Given the description of an element on the screen output the (x, y) to click on. 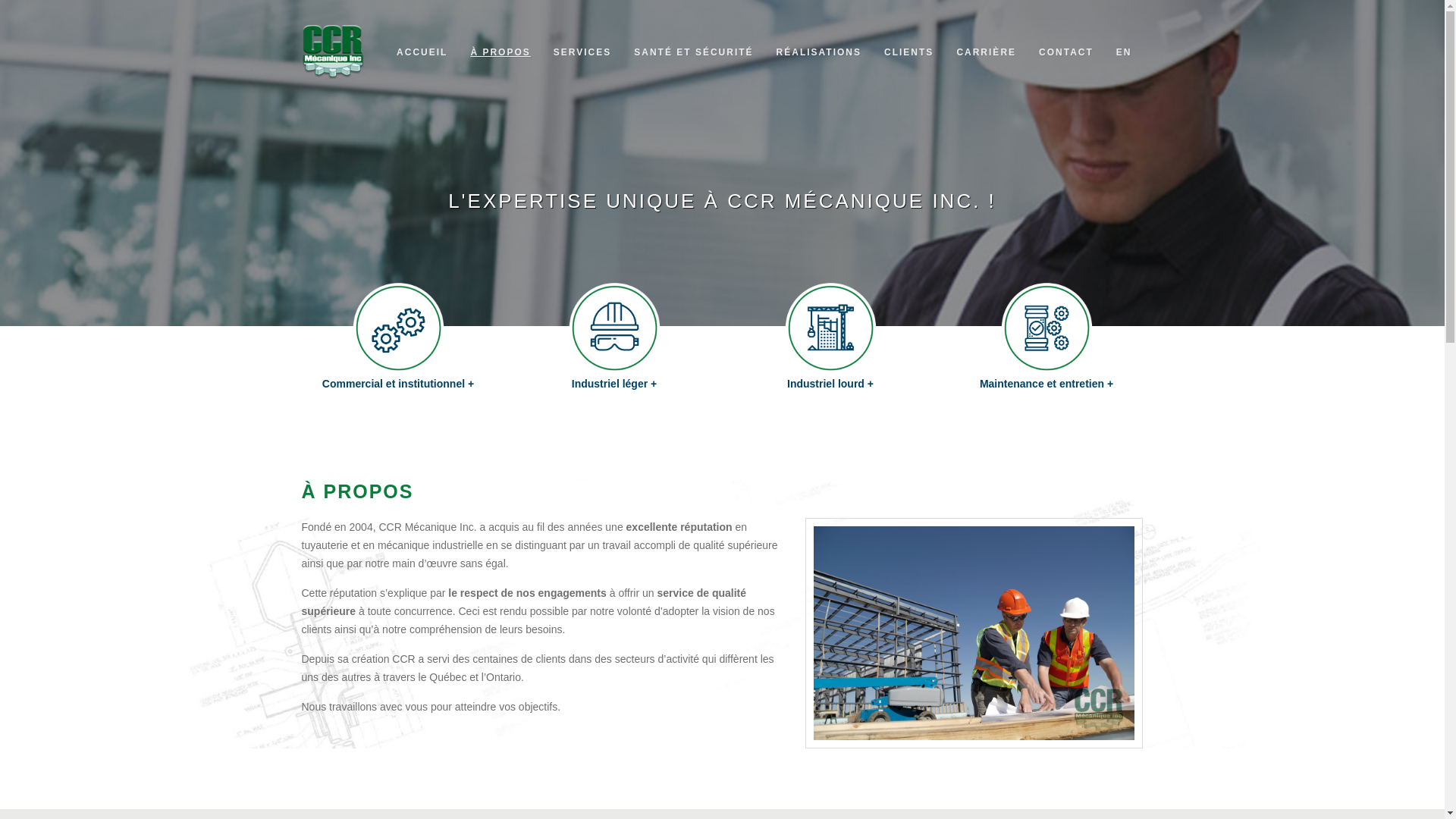
ACCUEIL (421, 51)
SERVICES (582, 51)
CLIENTS (908, 51)
CONTACT (1066, 51)
